Given the description of an element on the screen output the (x, y) to click on. 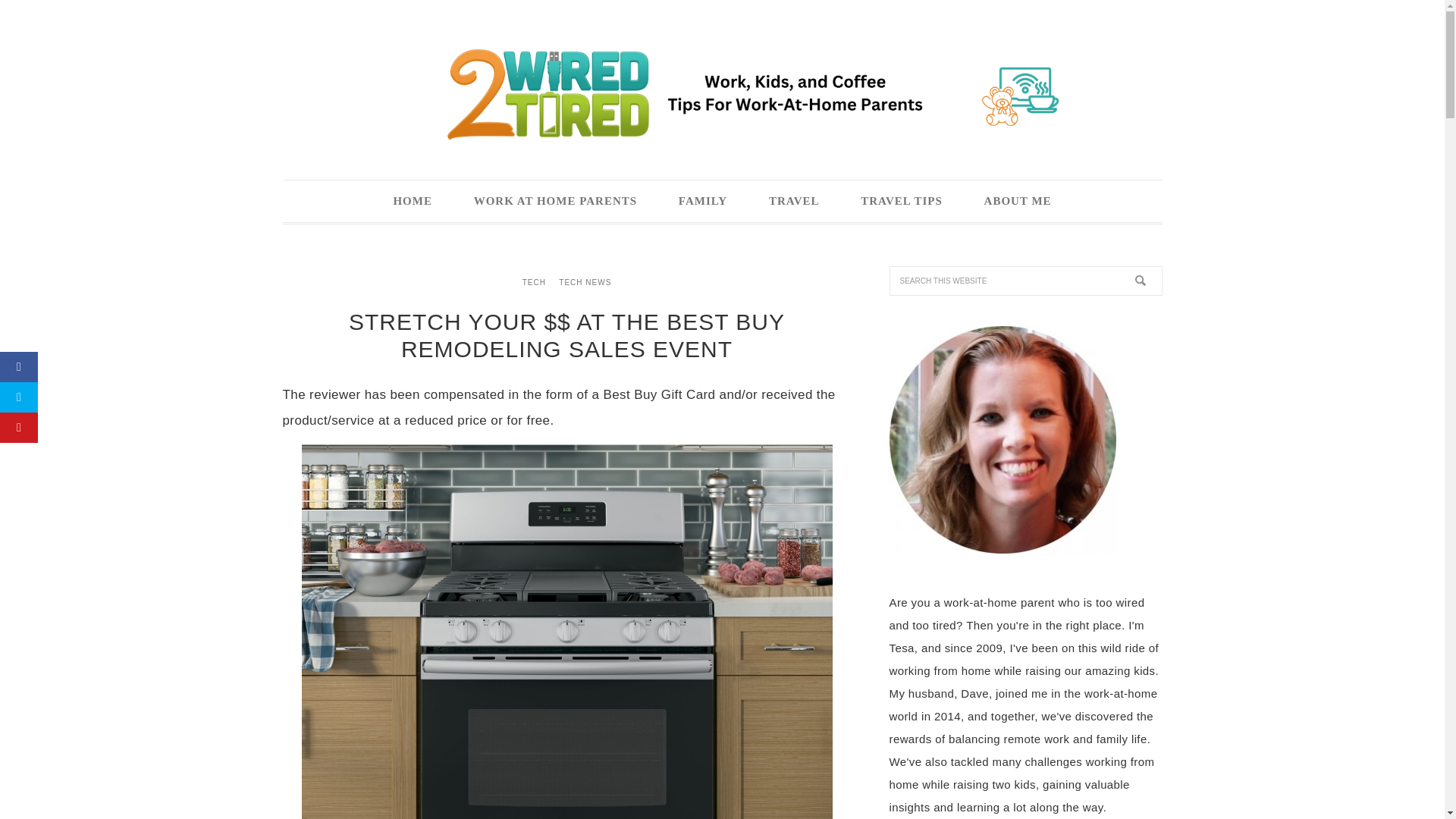
HOME (412, 200)
WORK AT HOME PARENTS (555, 200)
2 WIRED 2 TIRED (721, 92)
TECH NEWS (584, 281)
TRAVEL TIPS (900, 200)
TRAVEL (793, 200)
FAMILY (702, 200)
ABOUT ME (1017, 200)
